Given the description of an element on the screen output the (x, y) to click on. 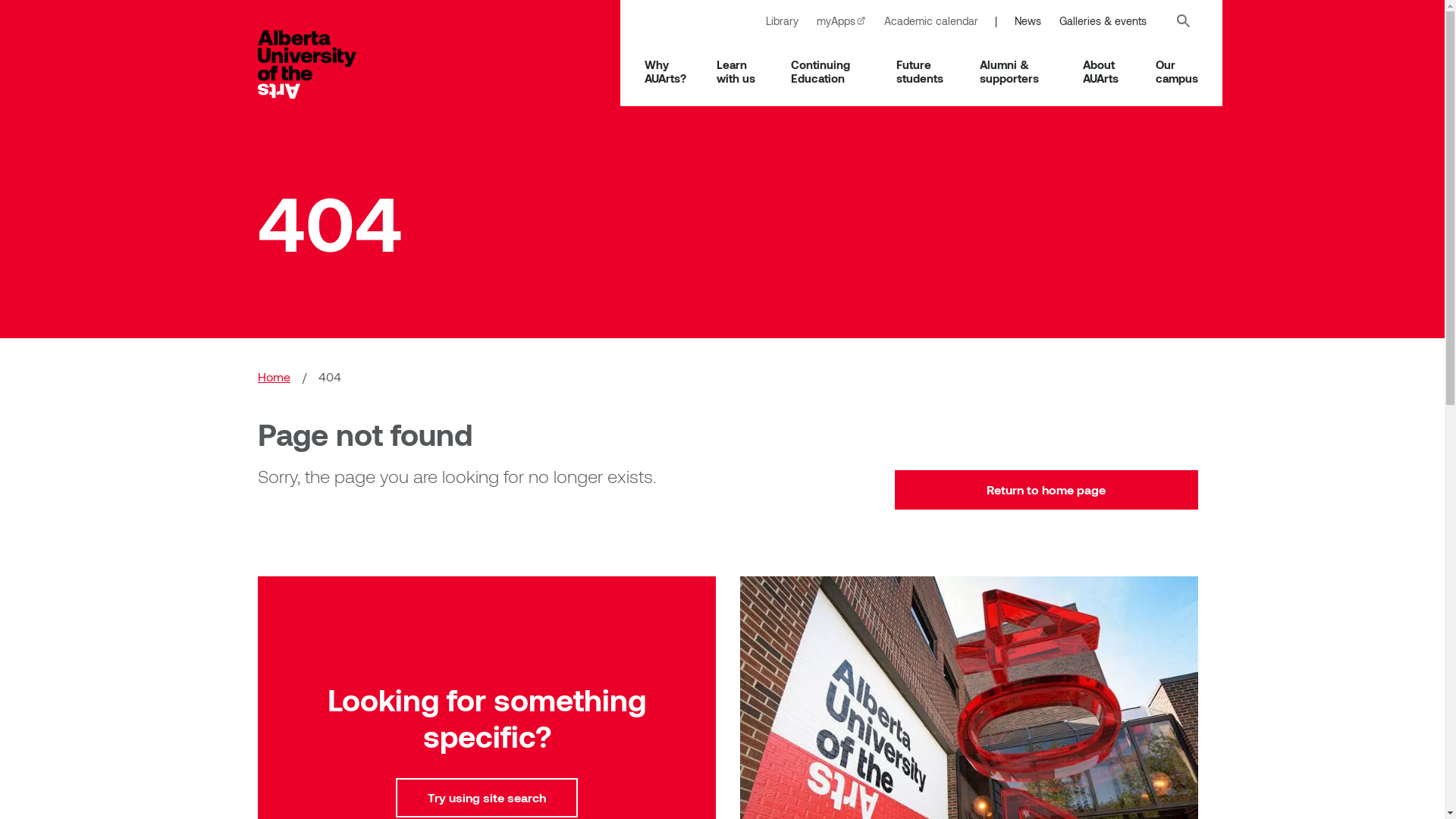
Library Element type: text (781, 21)
Galleries & events Element type: text (1102, 21)
myApps
(external link) Element type: text (841, 21)
Alumni & supporters Element type: text (1015, 71)
Skip to main content Element type: text (0, 0)
Search Element type: text (1182, 20)
About AUArts Element type: text (1103, 71)
Future students Element type: text (922, 71)
Continuing Education Element type: text (828, 71)
Why AUArts? Element type: text (665, 71)
Our campus Element type: text (1176, 71)
Return to home page Element type: text (1046, 489)
Learn with us Element type: text (738, 71)
Try using site search Element type: text (486, 797)
Home Element type: hover (321, 64)
Academic calendar Element type: text (931, 21)
Home Element type: text (273, 376)
News Element type: text (1027, 21)
